Given the description of an element on the screen output the (x, y) to click on. 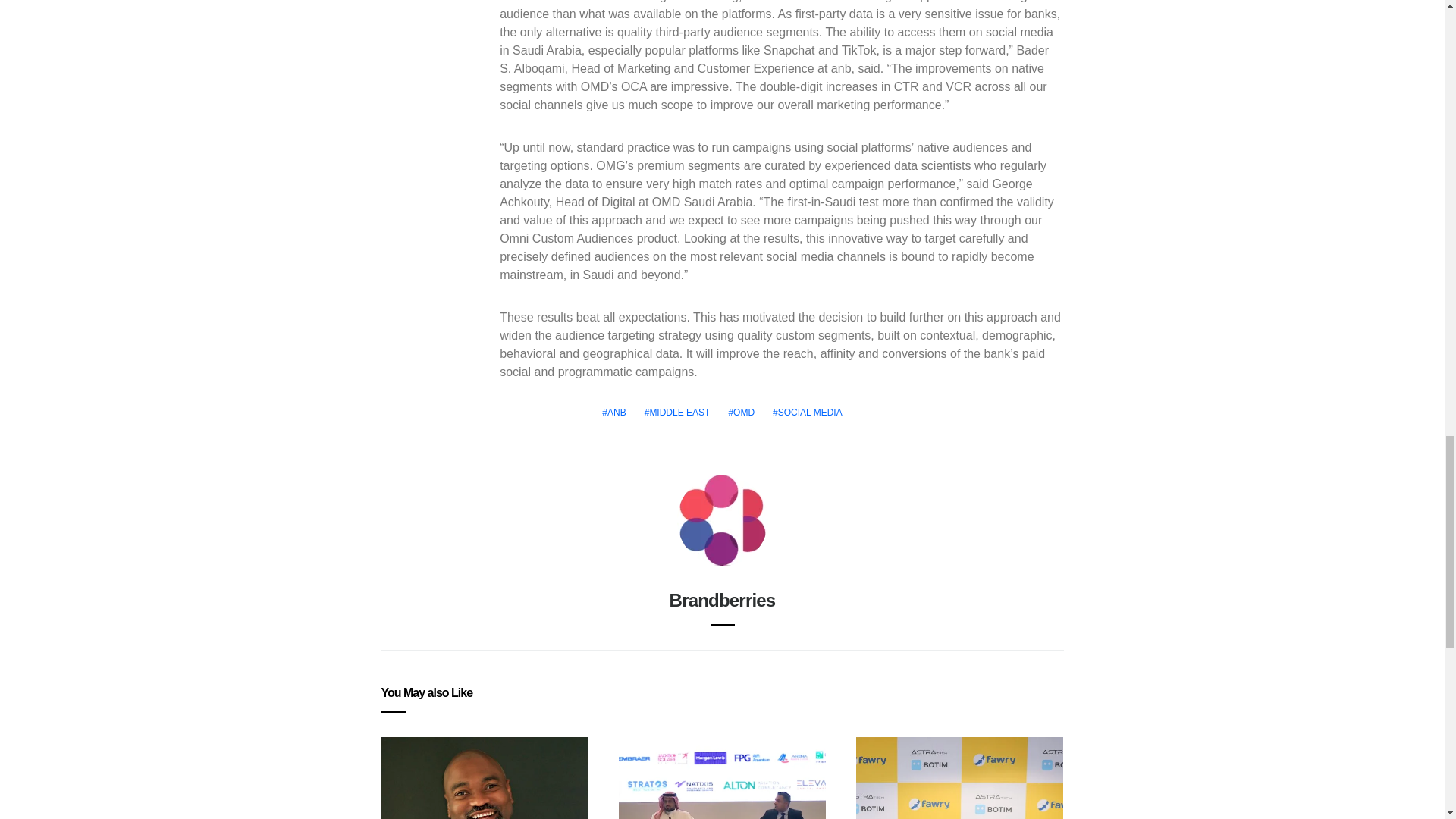
Posts by Brandberries (722, 599)
MIDDLE EAST (677, 412)
ANB (613, 412)
SOCIAL MEDIA (807, 412)
Brandberries (722, 599)
OMD (741, 412)
